Given the description of an element on the screen output the (x, y) to click on. 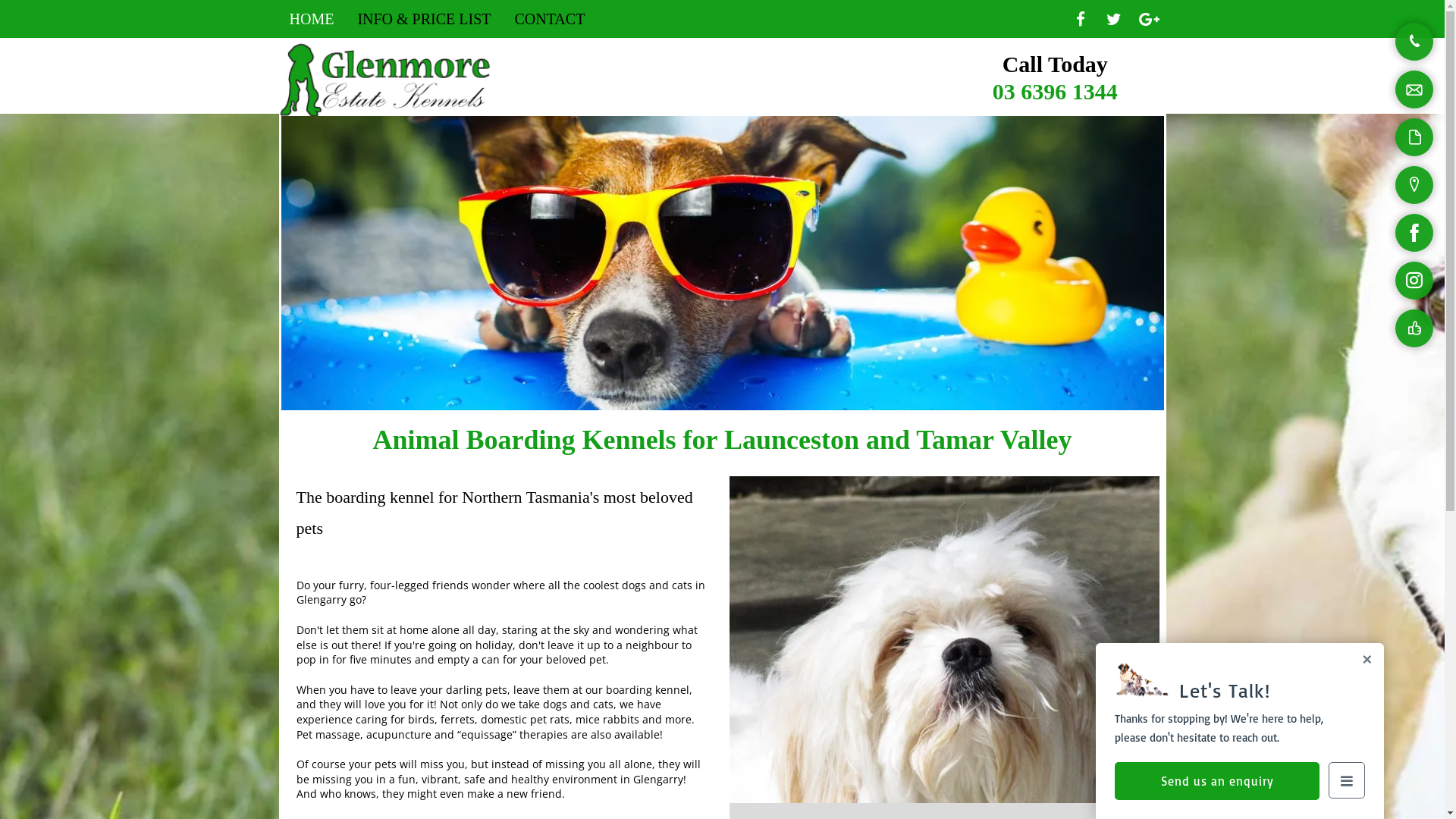
HOME Element type: text (311, 18)
CONTACT Element type: text (549, 18)
glenmore estate kennels white haired dog Element type: hover (944, 639)
glenmore estate kennels logo Element type: hover (390, 79)
glenmore estate kennels dog with shades Element type: hover (721, 263)
03 6396 1344 Element type: text (1054, 90)
Send us an enquiry Element type: text (1216, 781)
INFO & PRICE LIST Element type: text (423, 18)
